Given the description of an element on the screen output the (x, y) to click on. 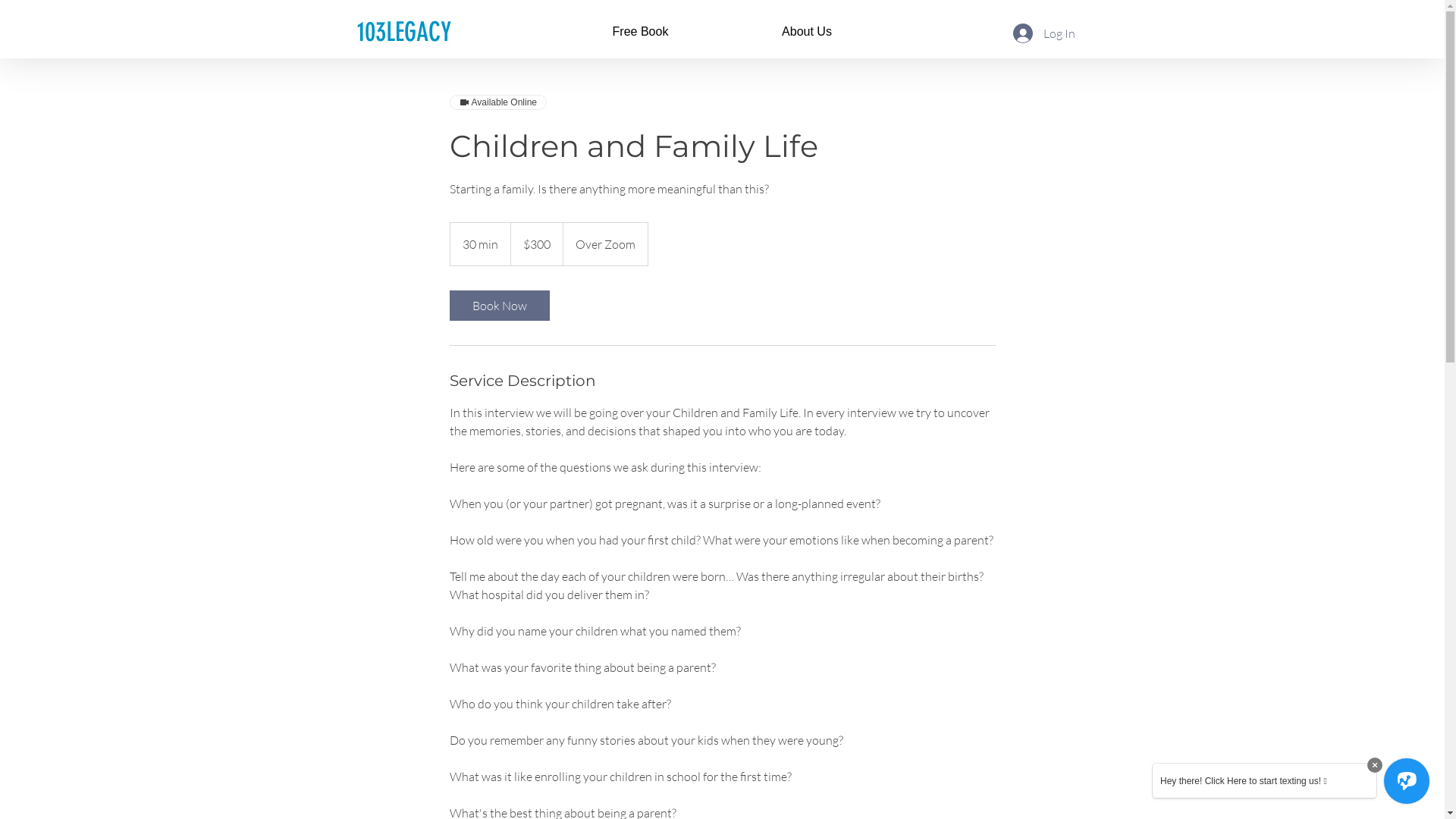
Book Now Element type: text (498, 305)
Log In Element type: text (1043, 32)
103LEGACY Element type: text (403, 31)
About Us Element type: text (806, 31)
Free Book Element type: text (639, 31)
